Given the description of an element on the screen output the (x, y) to click on. 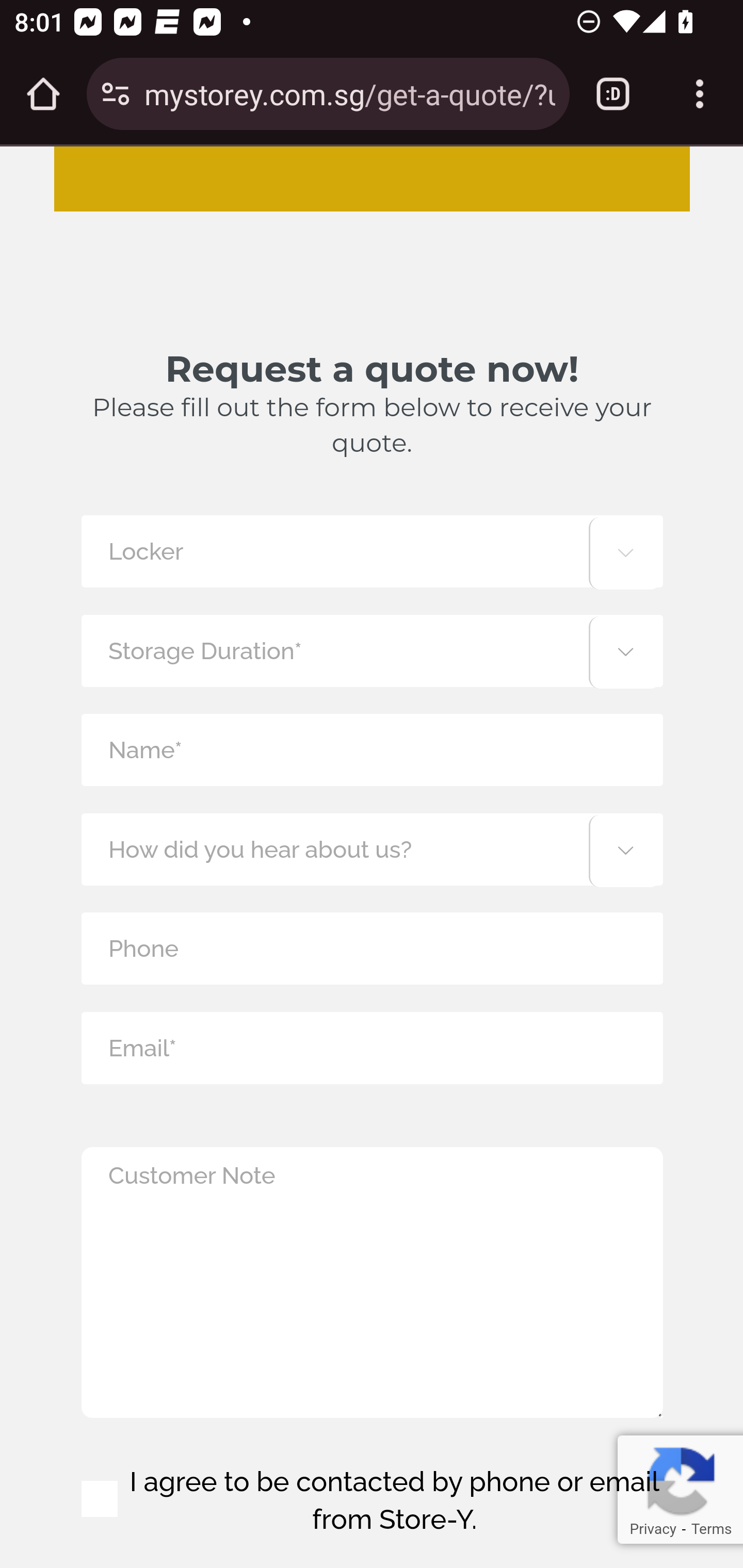
Open the home page (43, 93)
Connection is secure (115, 93)
Switch or close tabs (612, 93)
Customize and control Google Chrome (699, 93)
Locker (371, 551)
Storage Duration* (371, 649)
How did you hear about us? (371, 848)
Privacy (652, 1528)
Terms (711, 1528)
